Given the description of an element on the screen output the (x, y) to click on. 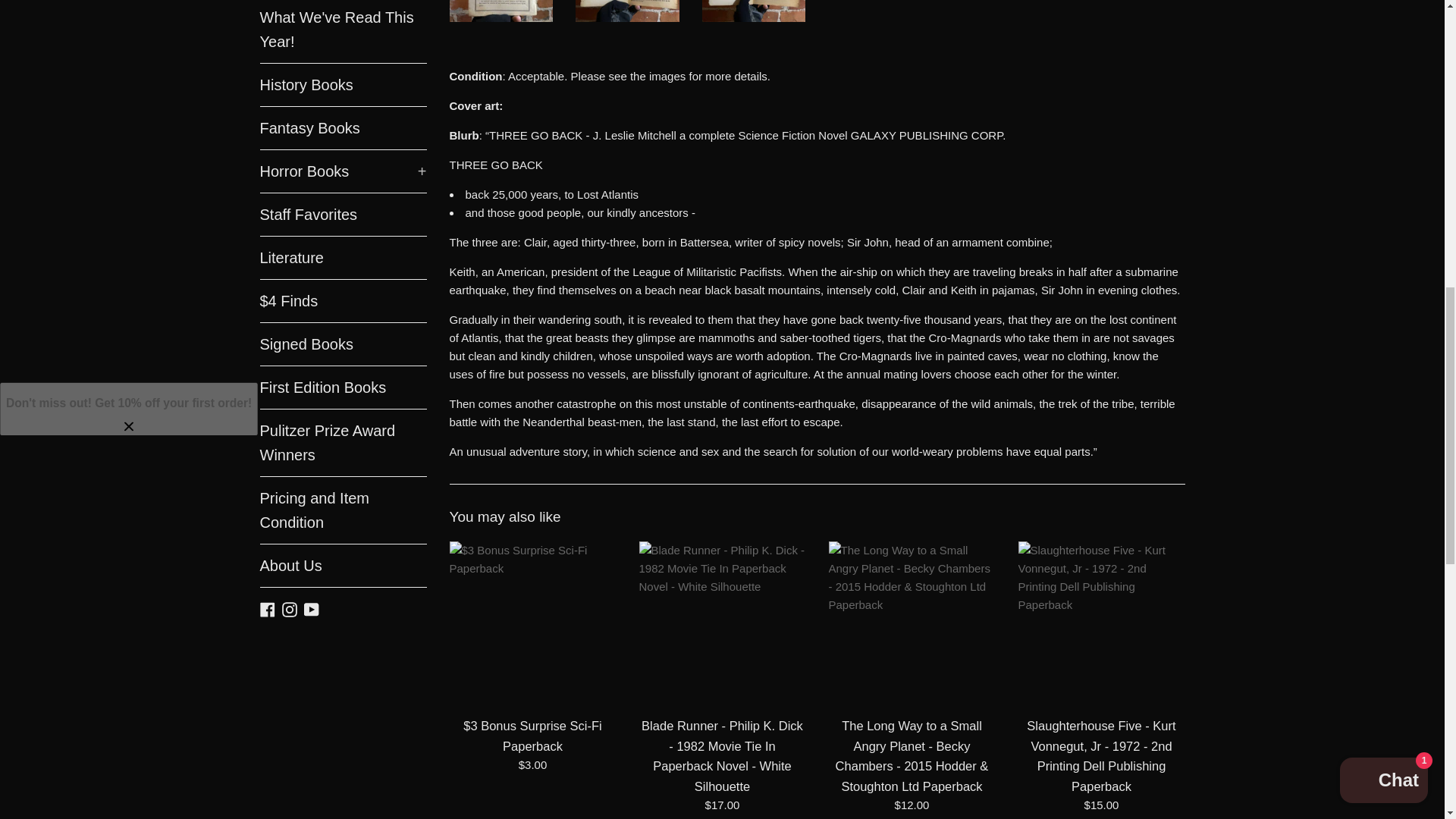
Postmarked from the Stars on Facebook (267, 607)
Postmarked from the Stars on Instagram (289, 607)
Signed Books (342, 343)
Literature (342, 257)
First Edition Books (342, 387)
Postmarked from the Stars on YouTube (311, 607)
Fantasy Books (342, 128)
History Books (342, 84)
Staff Favorites (342, 214)
What We've Read This Year! (342, 31)
